Given the description of an element on the screen output the (x, y) to click on. 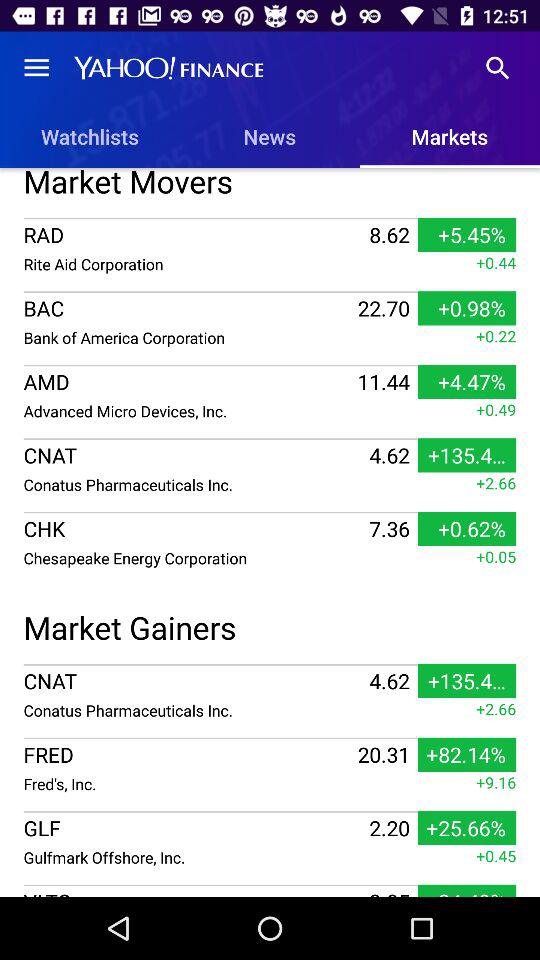
select icon above +9.16 item (466, 754)
